Given the description of an element on the screen output the (x, y) to click on. 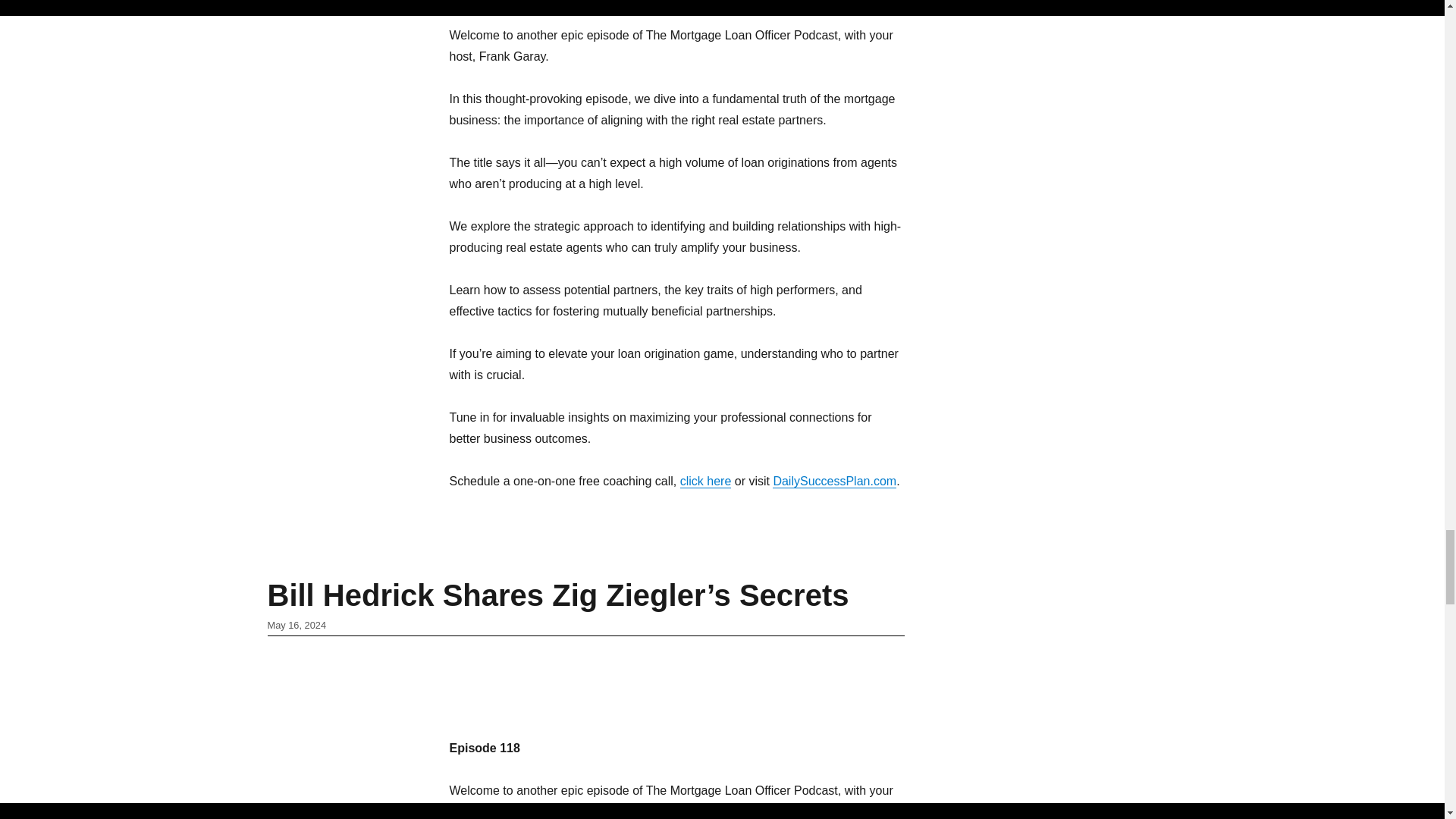
click here (705, 481)
DailySuccessPlan.com (834, 481)
Libsyn Player (676, 682)
